Given the description of an element on the screen output the (x, y) to click on. 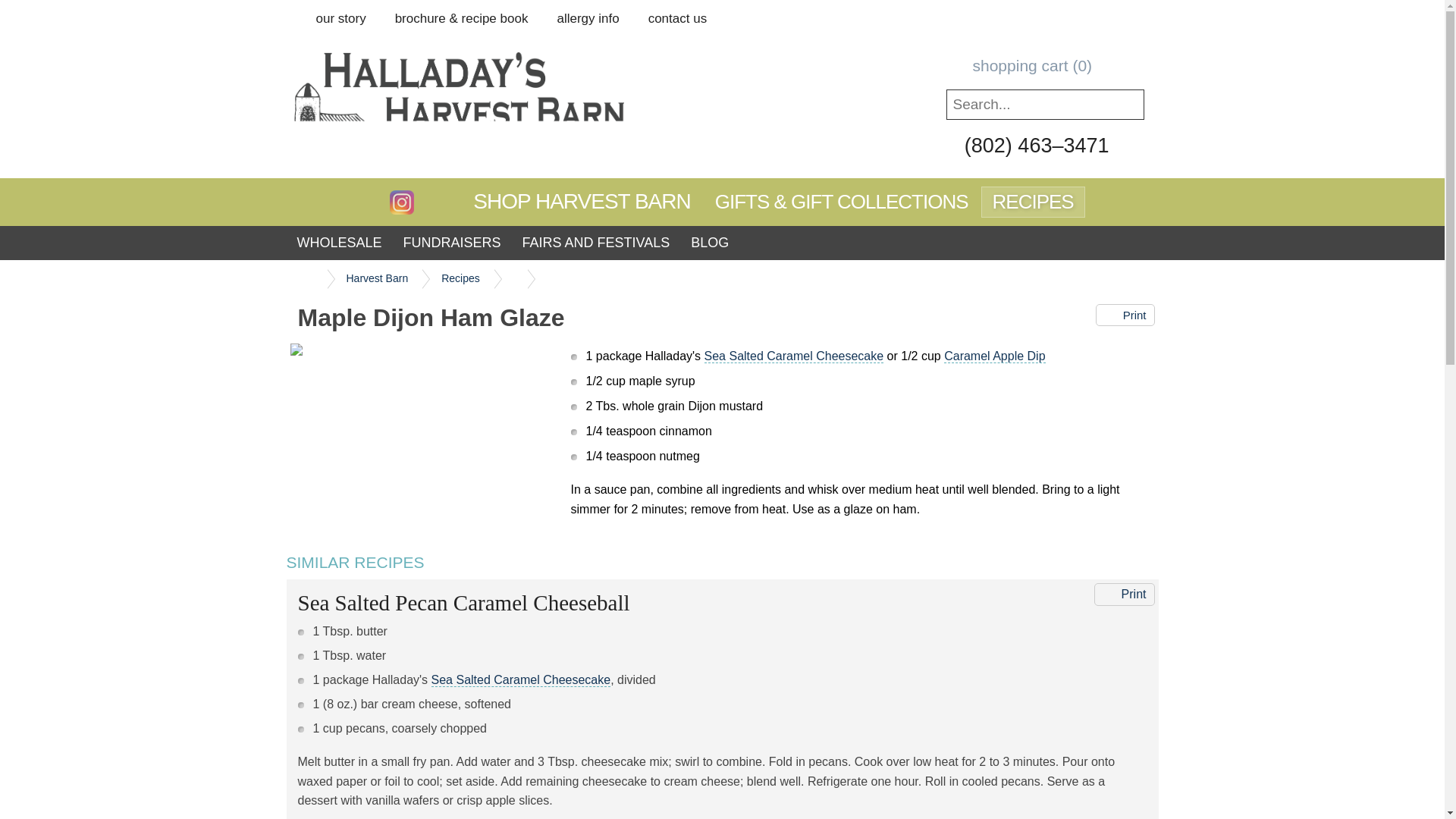
RECIPES (1032, 201)
BLOG (709, 242)
WHOLESALE (338, 242)
SHOP HARVEST BARN (581, 201)
allergy info (587, 18)
Halladay's Harvest Barn (494, 104)
shopping cart (1052, 65)
Shopping Cart (1052, 65)
FAIRS AND FESTIVALS (596, 242)
FUNDRAISERS (452, 242)
